Given the description of an element on the screen output the (x, y) to click on. 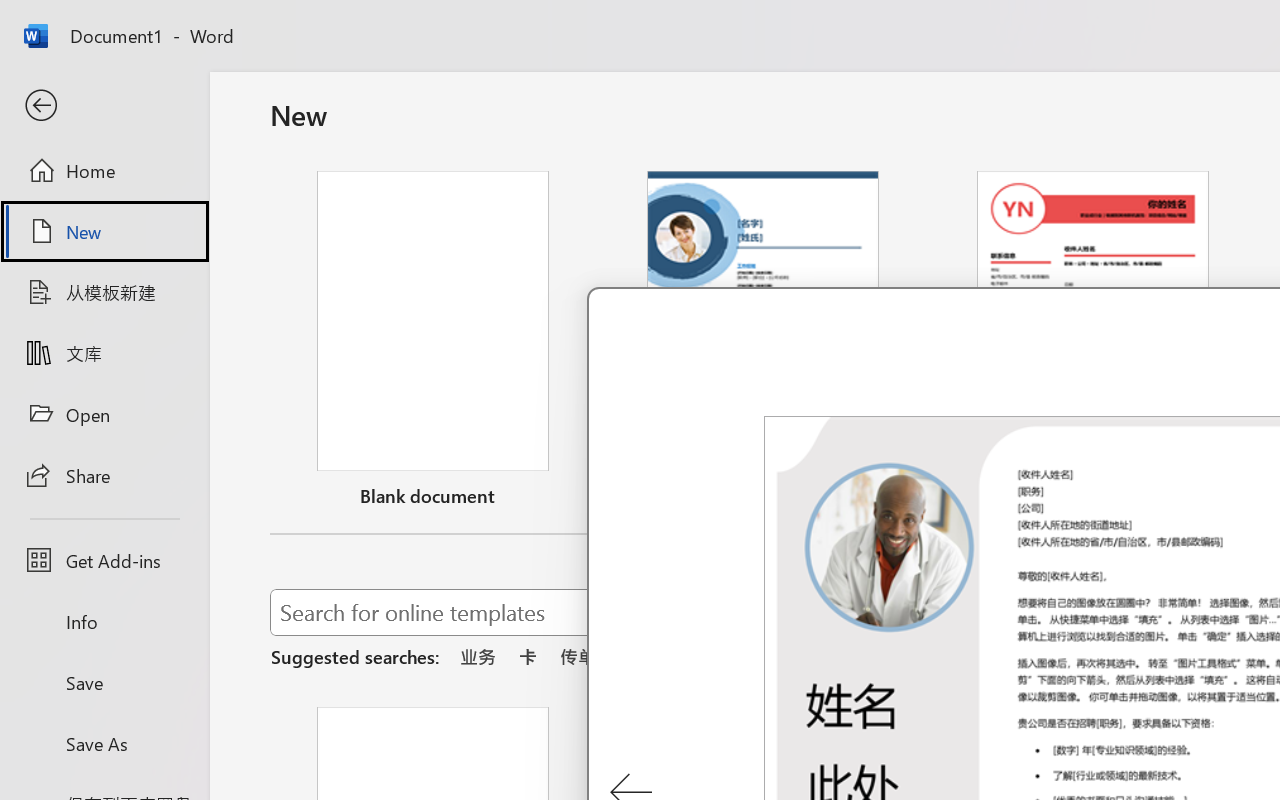
Back (104, 106)
Info (104, 621)
Save As (104, 743)
Blank document (433, 343)
